Given the description of an element on the screen output the (x, y) to click on. 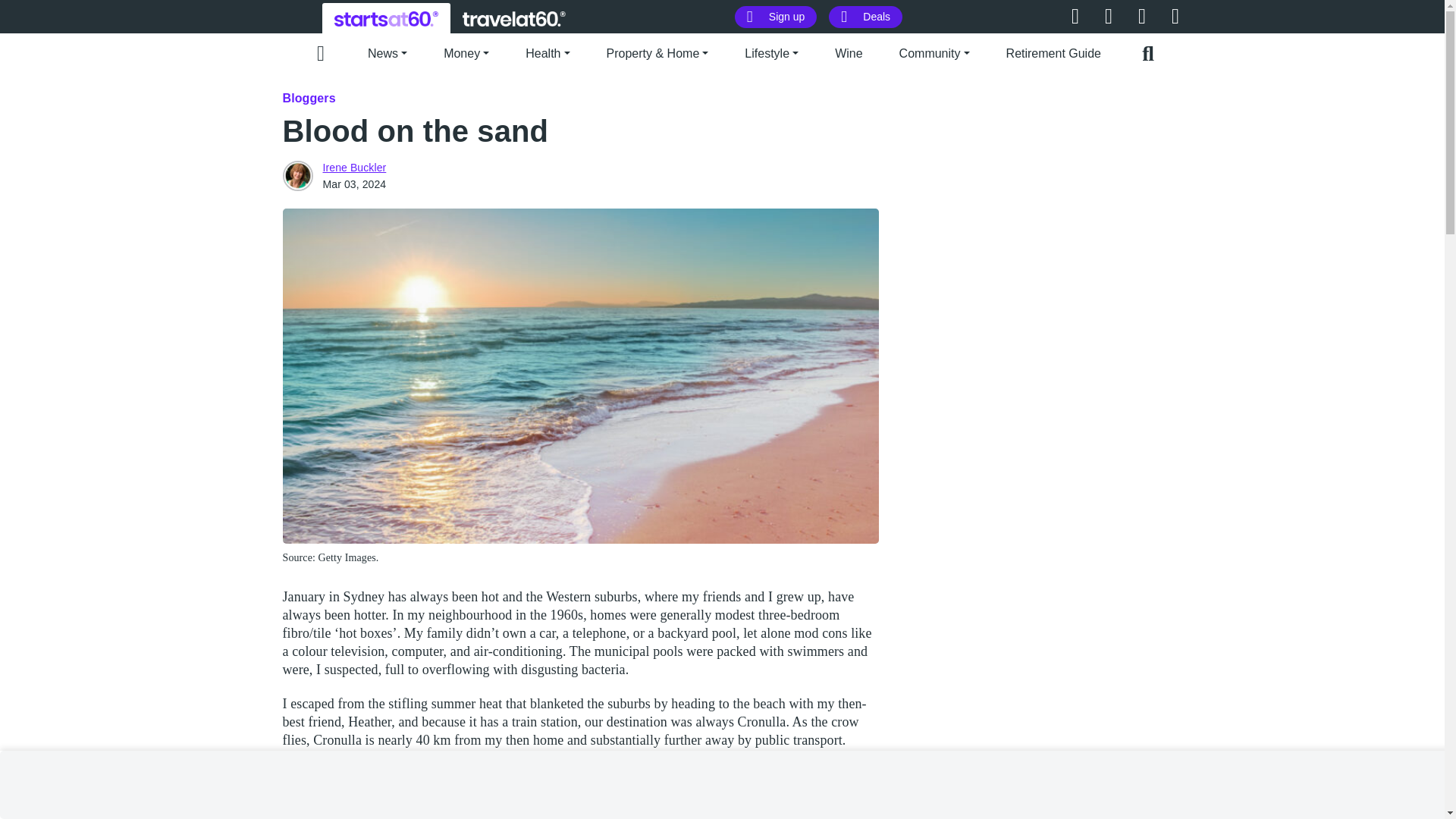
Money (466, 51)
Irene Buckler (297, 175)
Sign up (775, 16)
Deals (865, 16)
Hi !  (386, 18)
Health (547, 51)
Bloggers (308, 97)
News (387, 51)
Irene Buckler (355, 167)
Hi !  (514, 18)
